Given the description of an element on the screen output the (x, y) to click on. 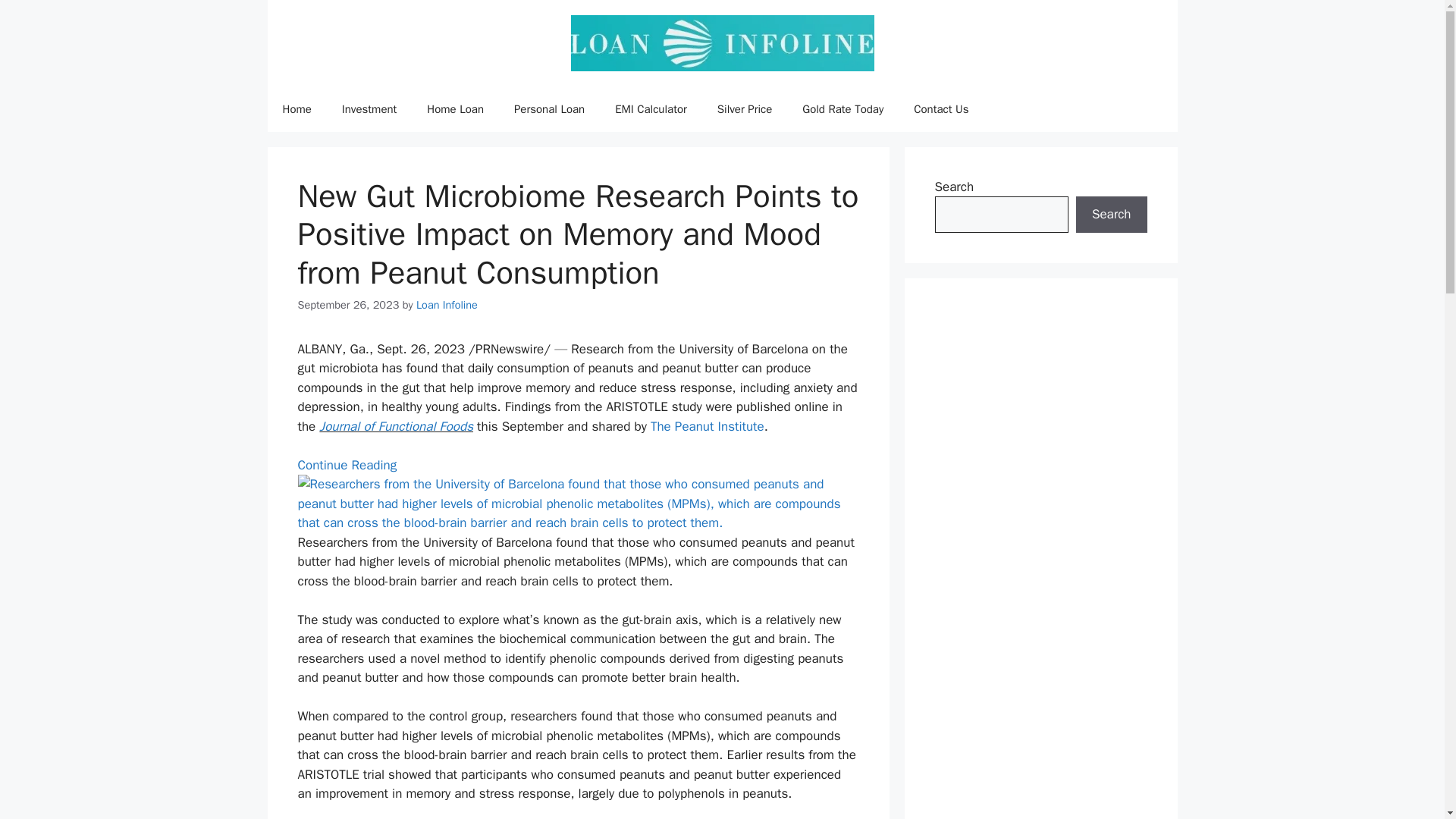
Continue Reading (346, 465)
Journal of Functional Foods (395, 426)
Investment (369, 108)
Gold Rate Today (842, 108)
Personal Loan (549, 108)
Continue Reading (346, 465)
EMI Calculator (650, 108)
The Peanut Institute (707, 426)
Silver Price (744, 108)
Search (1111, 214)
View all posts by Loan Infoline (446, 305)
Home Loan (455, 108)
Home (296, 108)
Contact Us (941, 108)
Loan Infoline (446, 305)
